Given the description of an element on the screen output the (x, y) to click on. 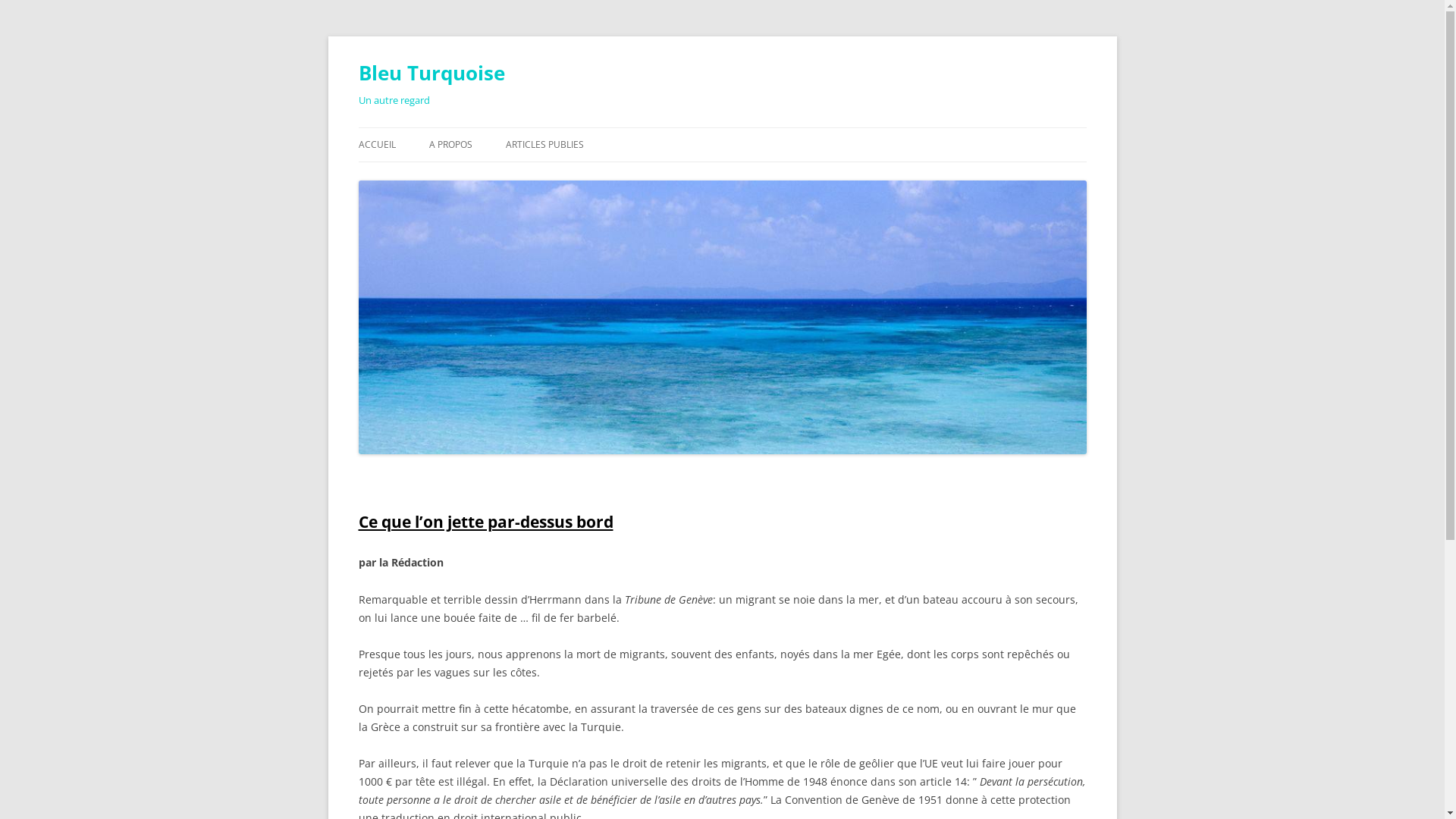
ARTICLES PUBLIES Element type: text (544, 144)
A PROPOS Element type: text (450, 144)
Aller au contenu Element type: text (721, 127)
ACCUEIL Element type: text (376, 144)
Bleu Turquoise Element type: text (430, 72)
